Given the description of an element on the screen output the (x, y) to click on. 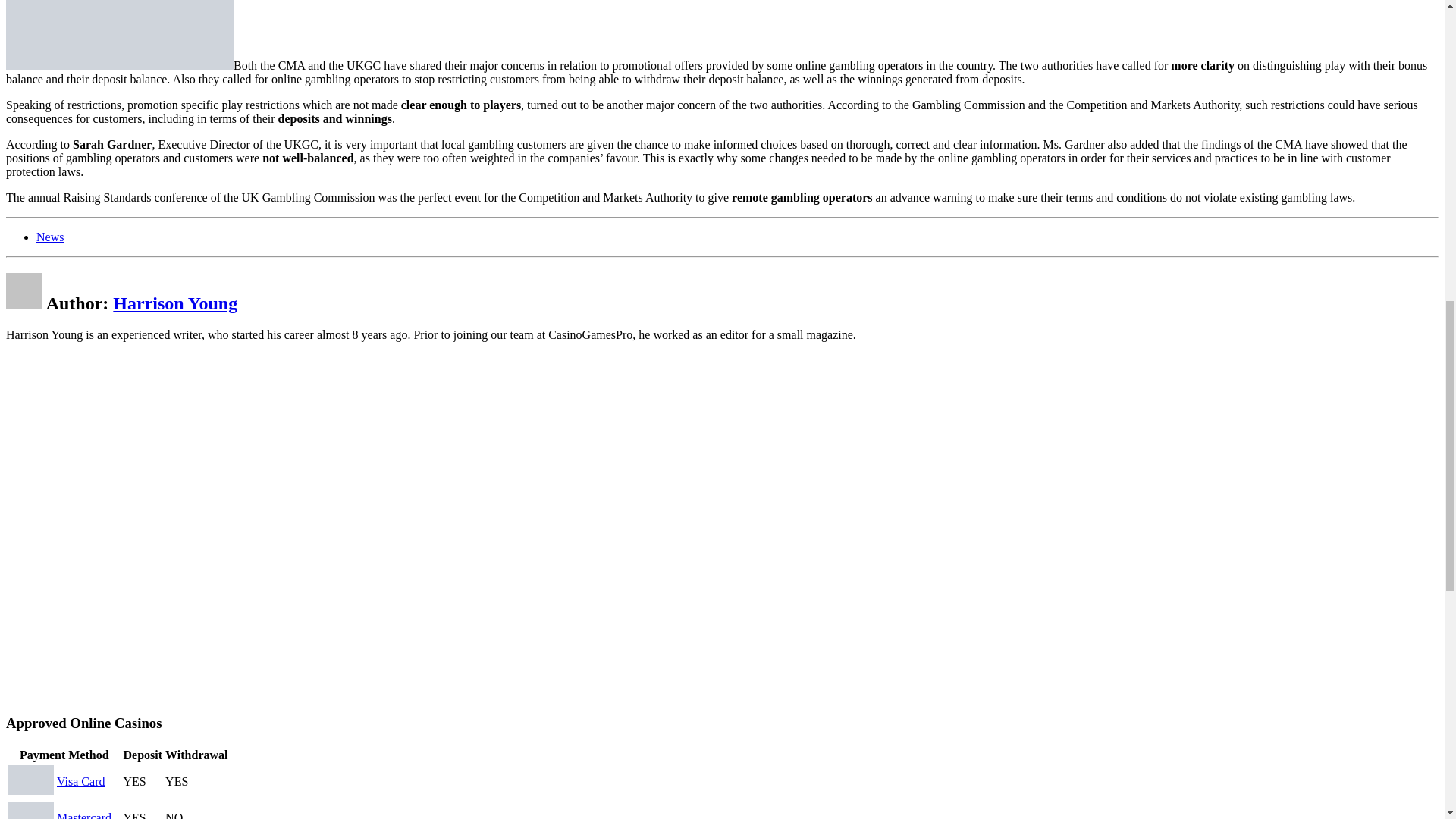
Harrison Young (175, 302)
News (50, 236)
Mastercard (84, 815)
Visa Card (80, 780)
